Given the description of an element on the screen output the (x, y) to click on. 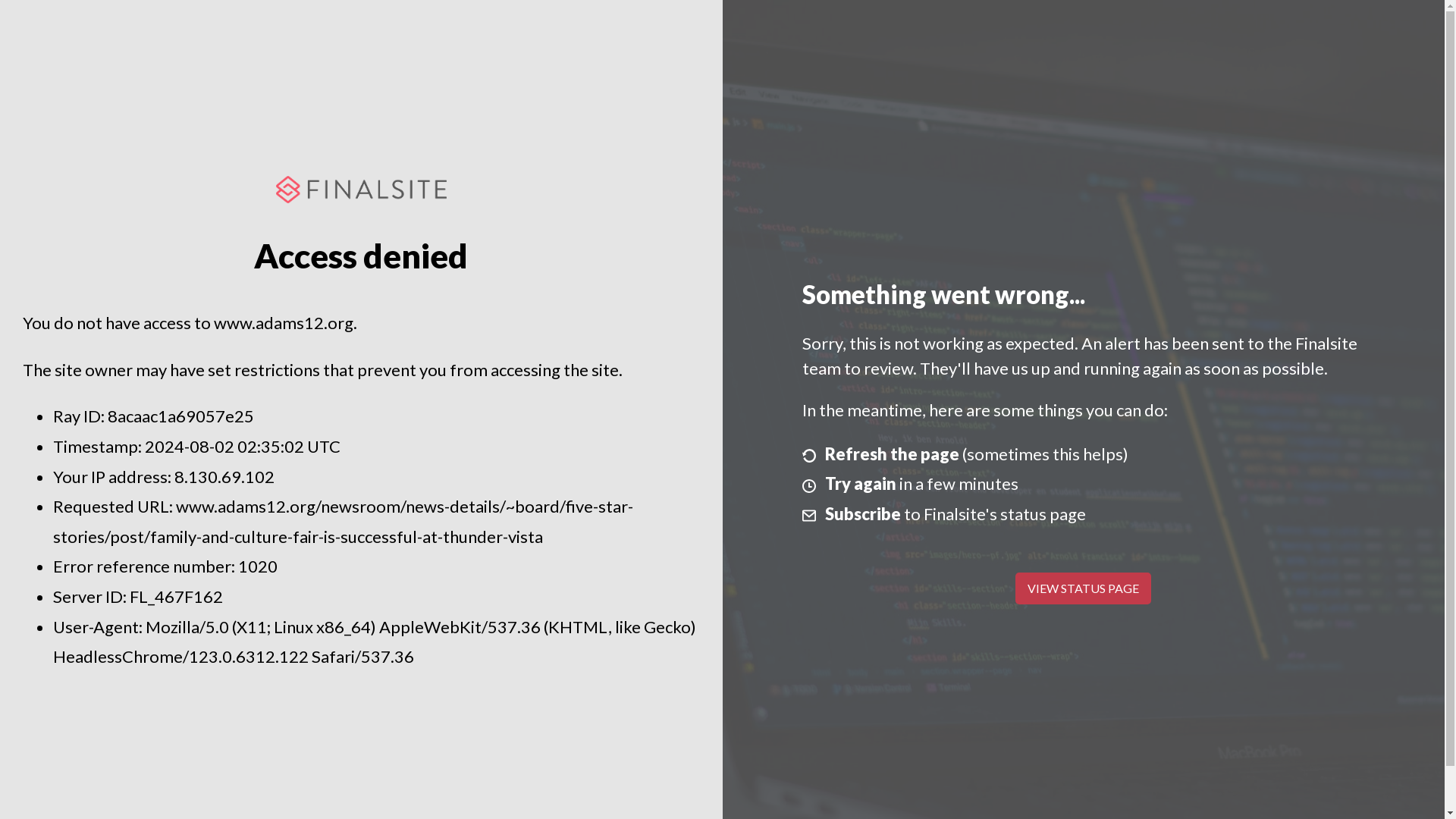
VIEW STATUS PAGE (1082, 588)
